Given the description of an element on the screen output the (x, y) to click on. 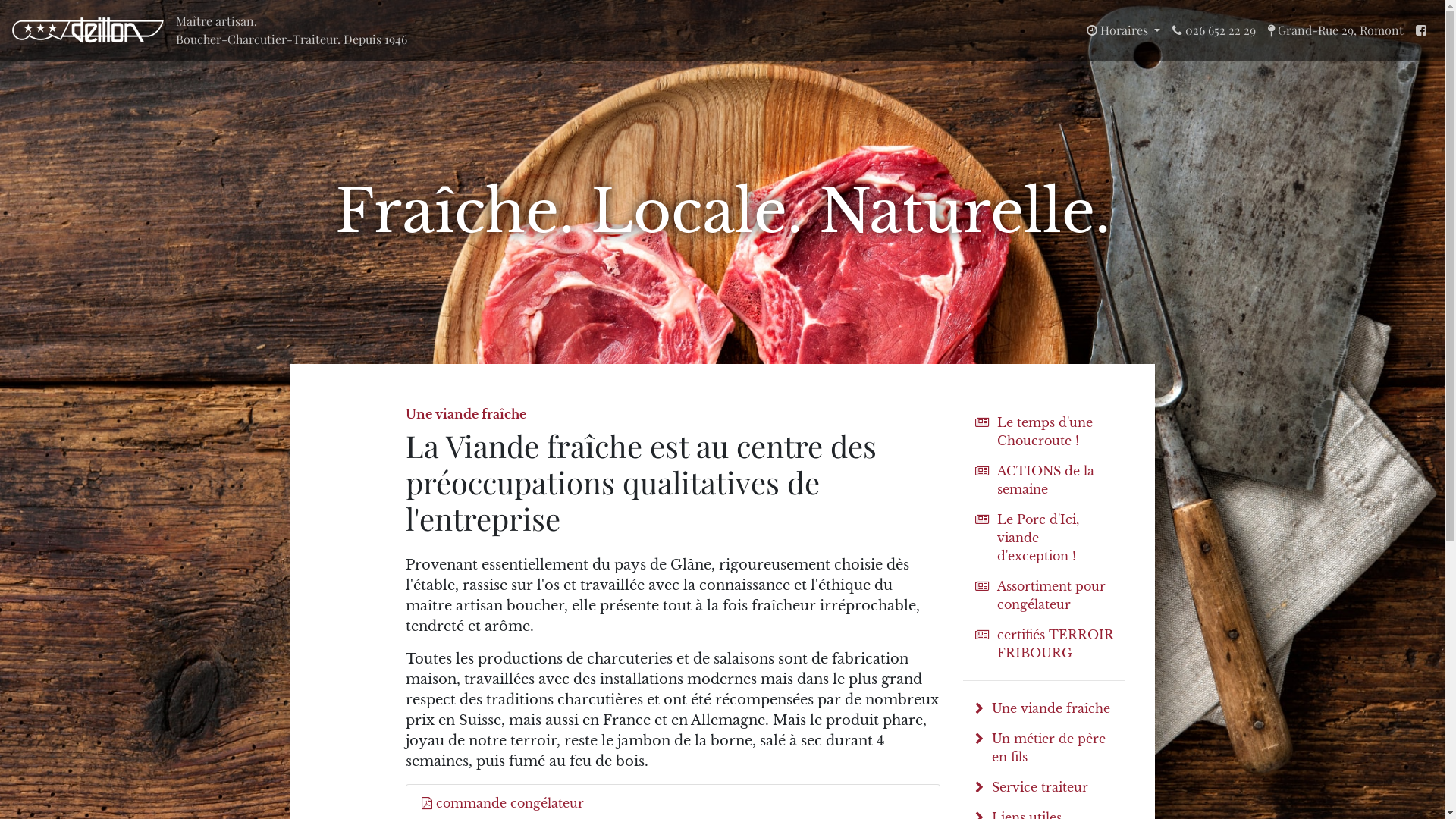
Service traiteur Element type: text (1044, 786)
Le Porc d'Ici, viande d'exception ! Element type: text (1044, 537)
ACTIONS de la semaine Element type: text (1044, 479)
Le temps d'une Choucroute ! Element type: text (1044, 431)
Grand-Rue 29, Romont Element type: text (1335, 30)
Horaires Element type: text (1123, 30)
026 652 22 29 Element type: text (1213, 30)
